Given the description of an element on the screen output the (x, y) to click on. 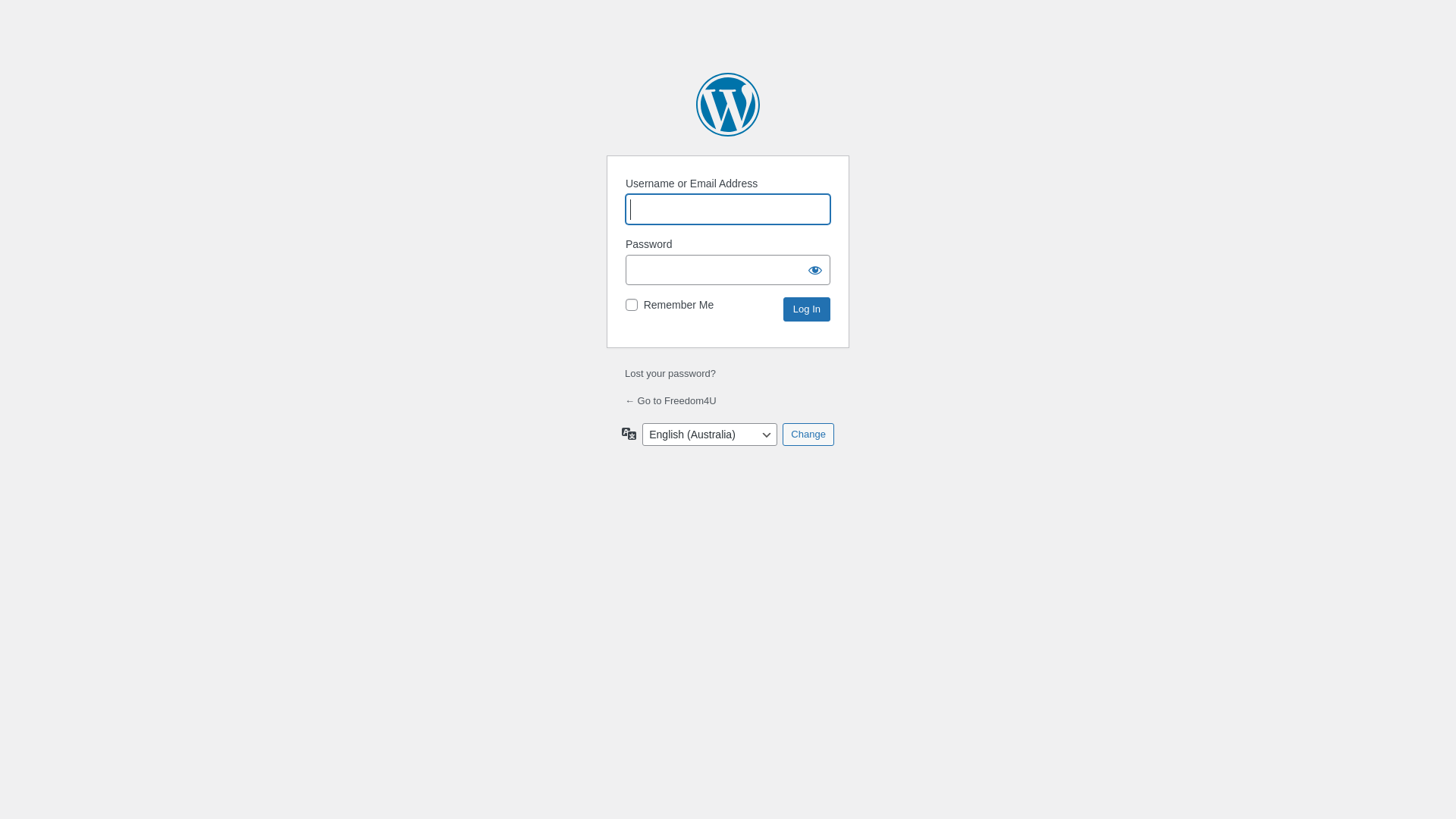
Lost your password? Element type: text (669, 373)
Log In Element type: text (806, 309)
Powered by WordPress Element type: text (727, 104)
Change Element type: text (808, 434)
